Given the description of an element on the screen output the (x, y) to click on. 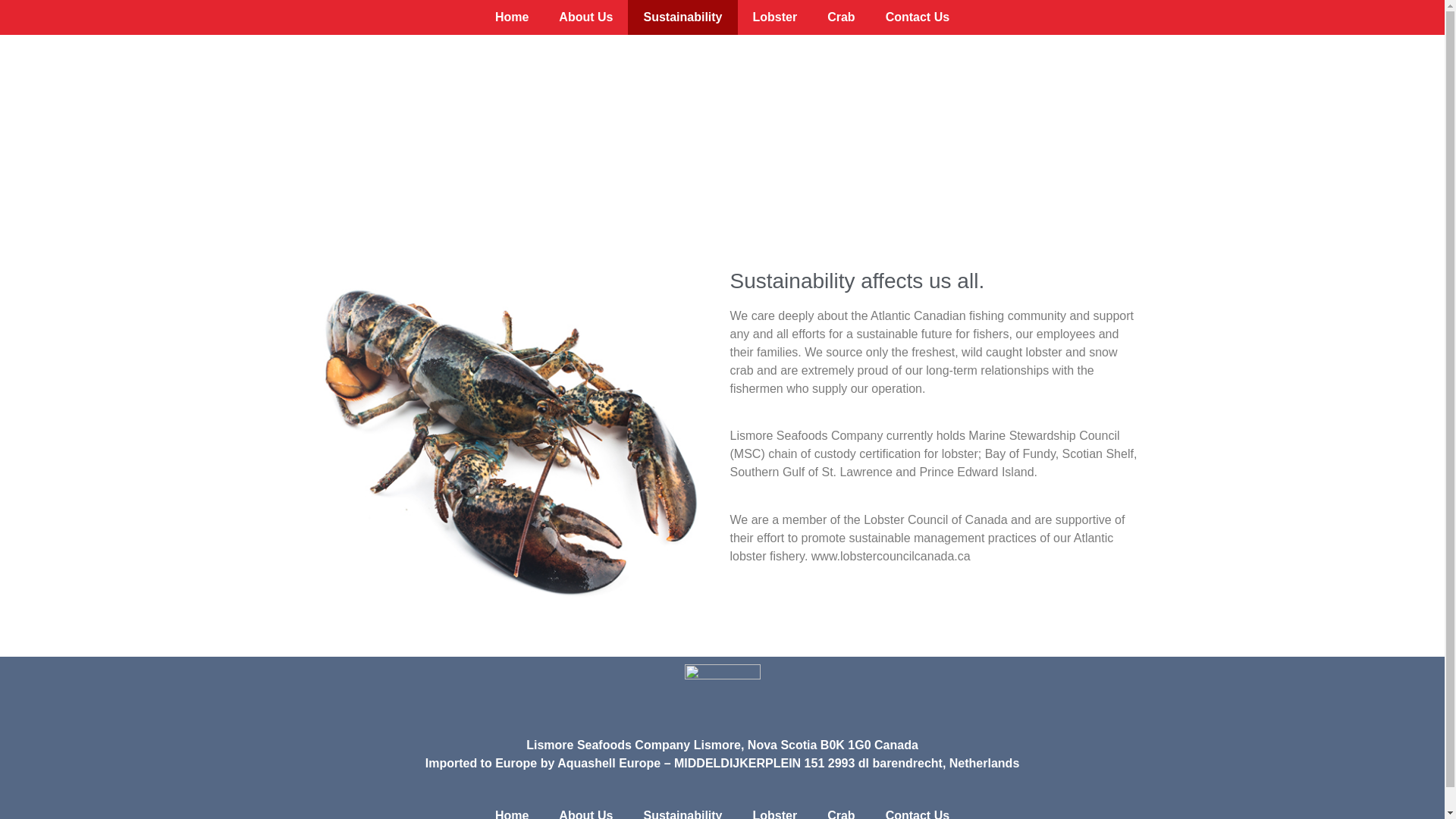
Home (511, 17)
About Us (585, 808)
Lobster (774, 808)
Home (511, 808)
Lobster (774, 17)
Sustainability (681, 808)
Sustainability (681, 17)
Crab (840, 17)
Contact Us (916, 17)
Crab (840, 808)
About Us (585, 17)
